Given the description of an element on the screen output the (x, y) to click on. 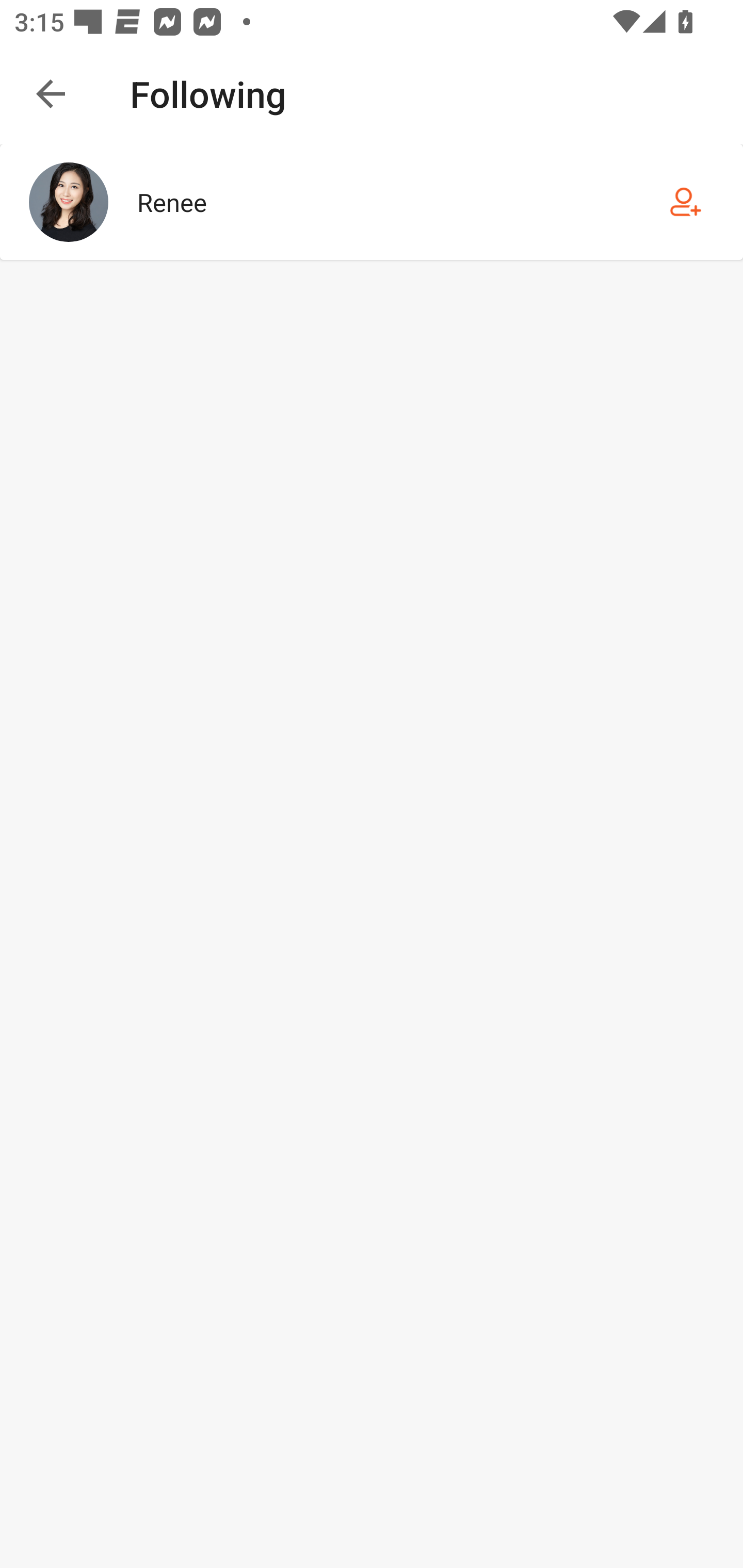
Navigate up (50, 93)
Renee (371, 202)
